Given the description of an element on the screen output the (x, y) to click on. 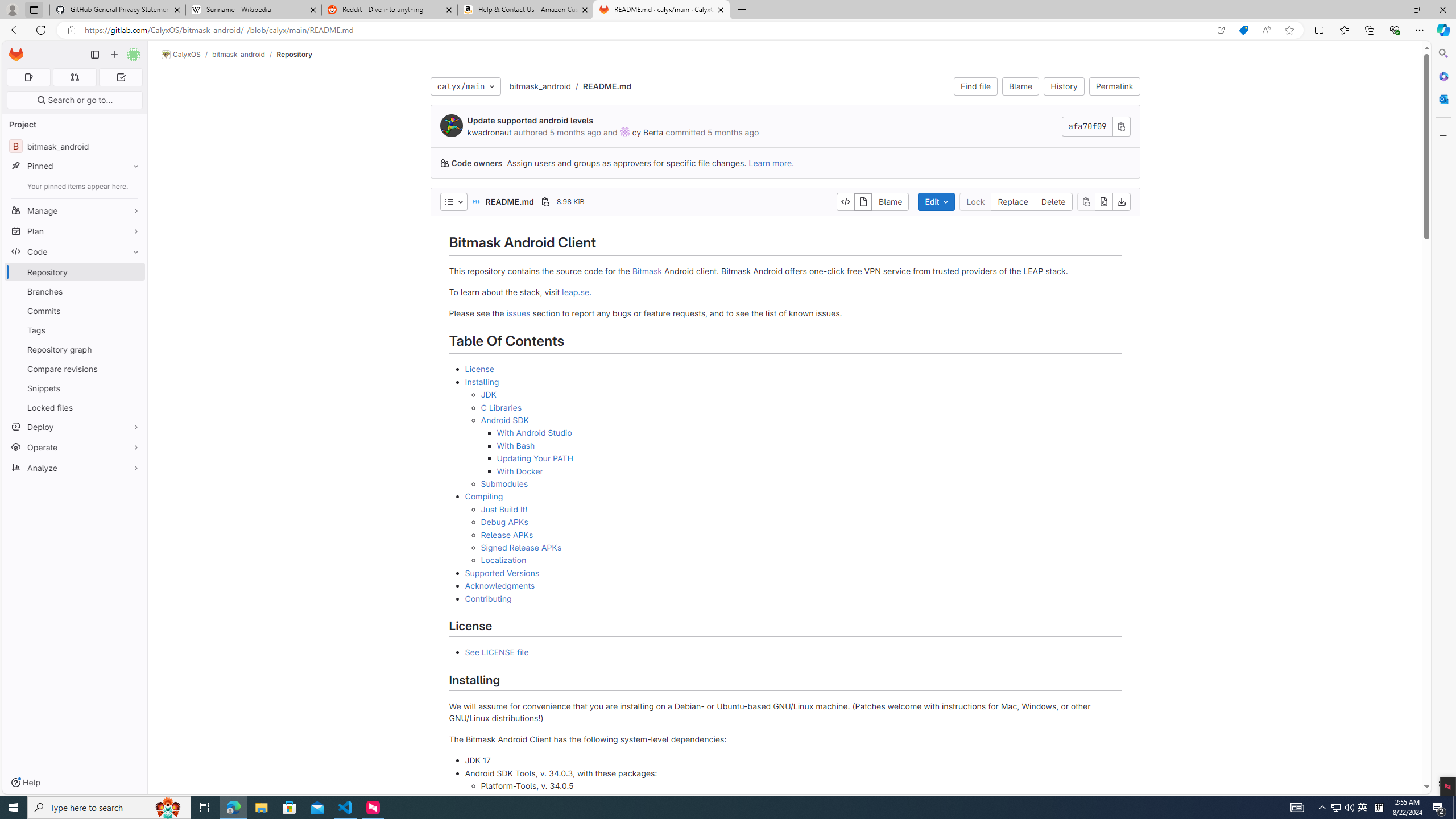
Delete (1053, 201)
Pin Compare revisions (132, 368)
Blame (1020, 85)
kwadronaut's avatar (451, 125)
Pinned (74, 165)
Android SDK (504, 420)
Pin Repository graph (132, 349)
Plan (74, 230)
Just Build It! (503, 508)
Tags (74, 330)
Acknowledgments (792, 585)
cy Berta (647, 131)
